Given the description of an element on the screen output the (x, y) to click on. 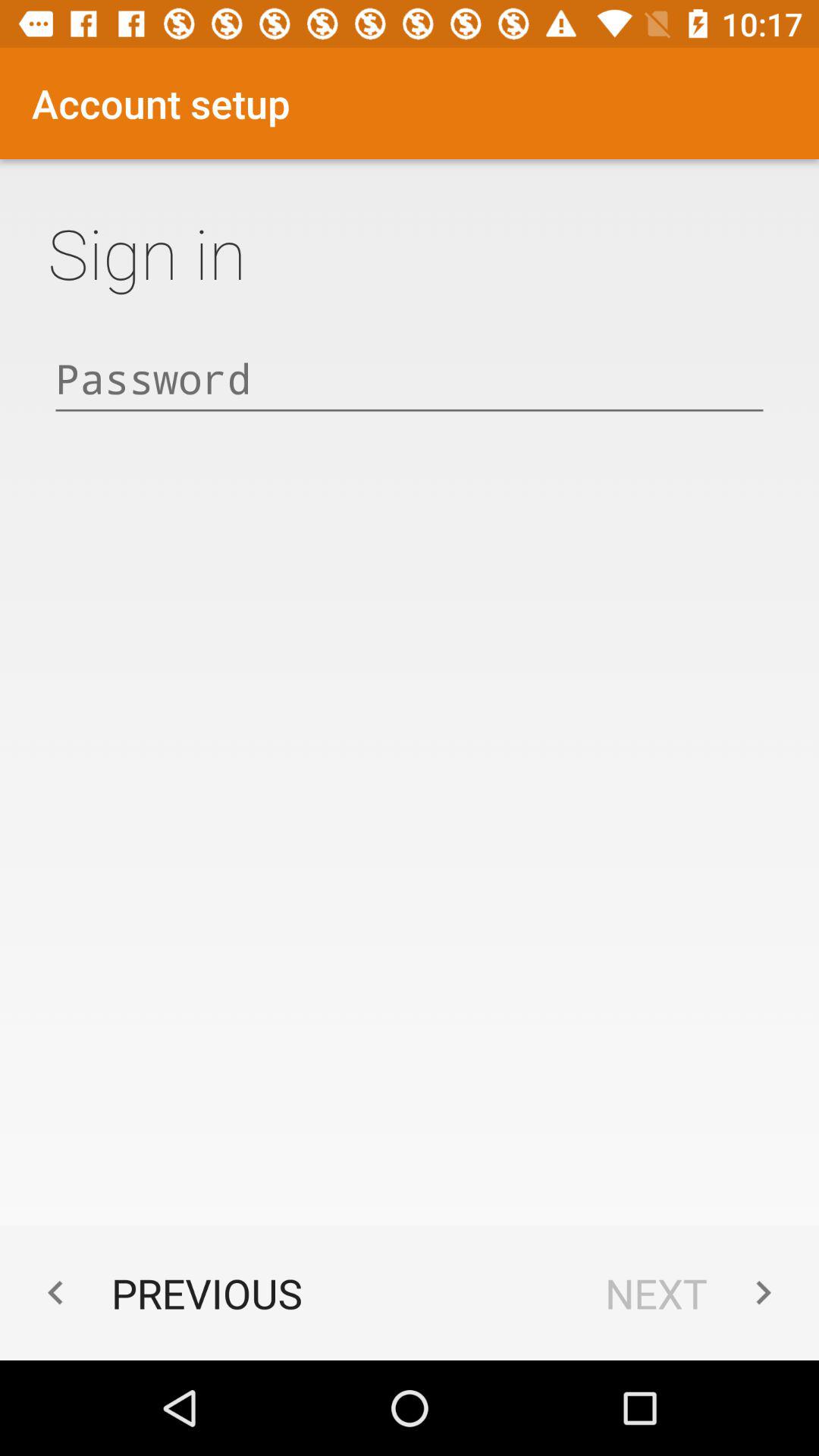
launch next icon (696, 1292)
